Given the description of an element on the screen output the (x, y) to click on. 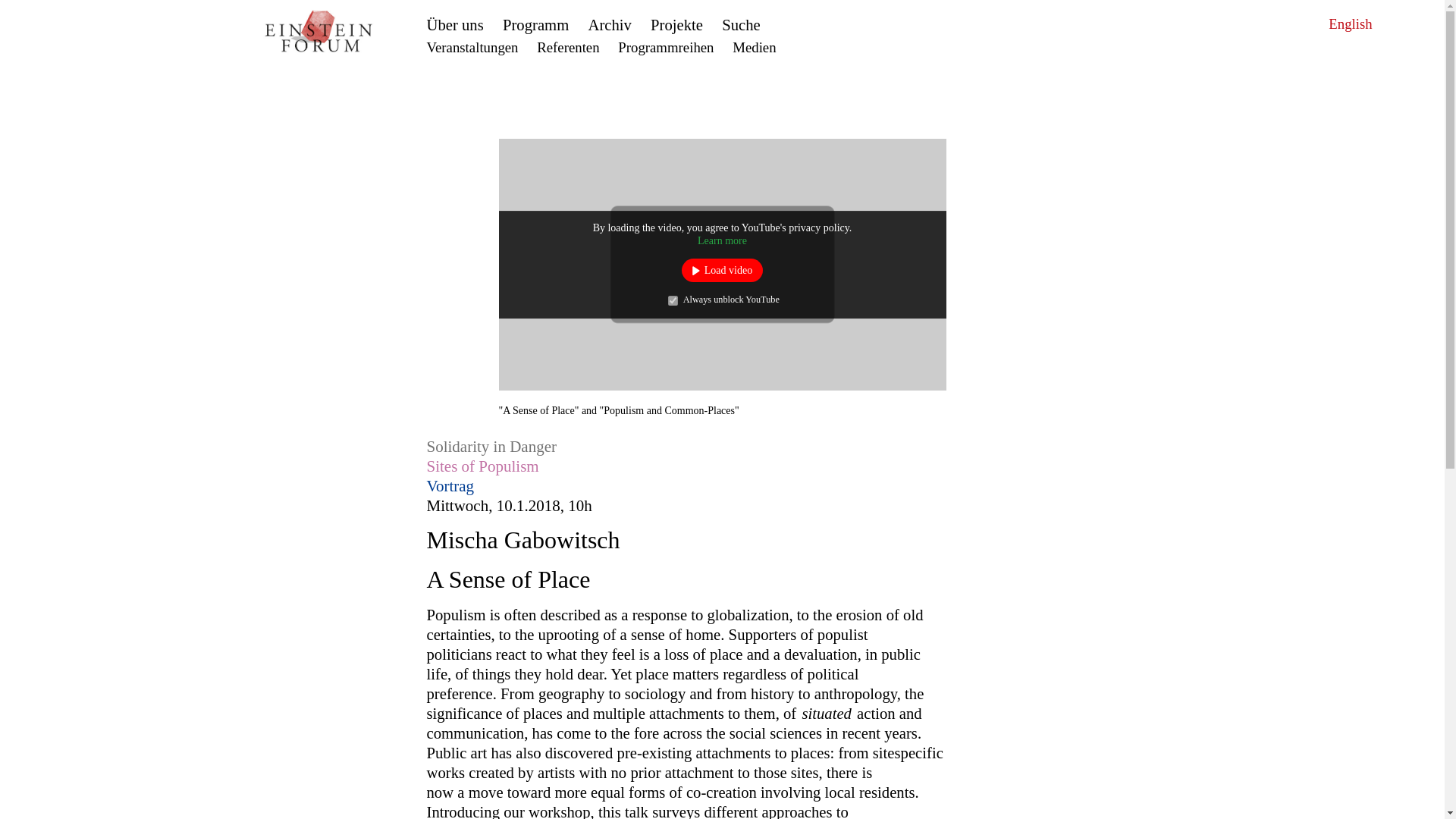
Sites of Populism (482, 466)
Load video (721, 270)
Projekte (676, 24)
Veranstaltungen (472, 47)
Learn more (721, 241)
Referenten (567, 47)
English (1349, 23)
Suche (741, 24)
Solidarity in Danger (491, 446)
1 (673, 300)
